Given the description of an element on the screen output the (x, y) to click on. 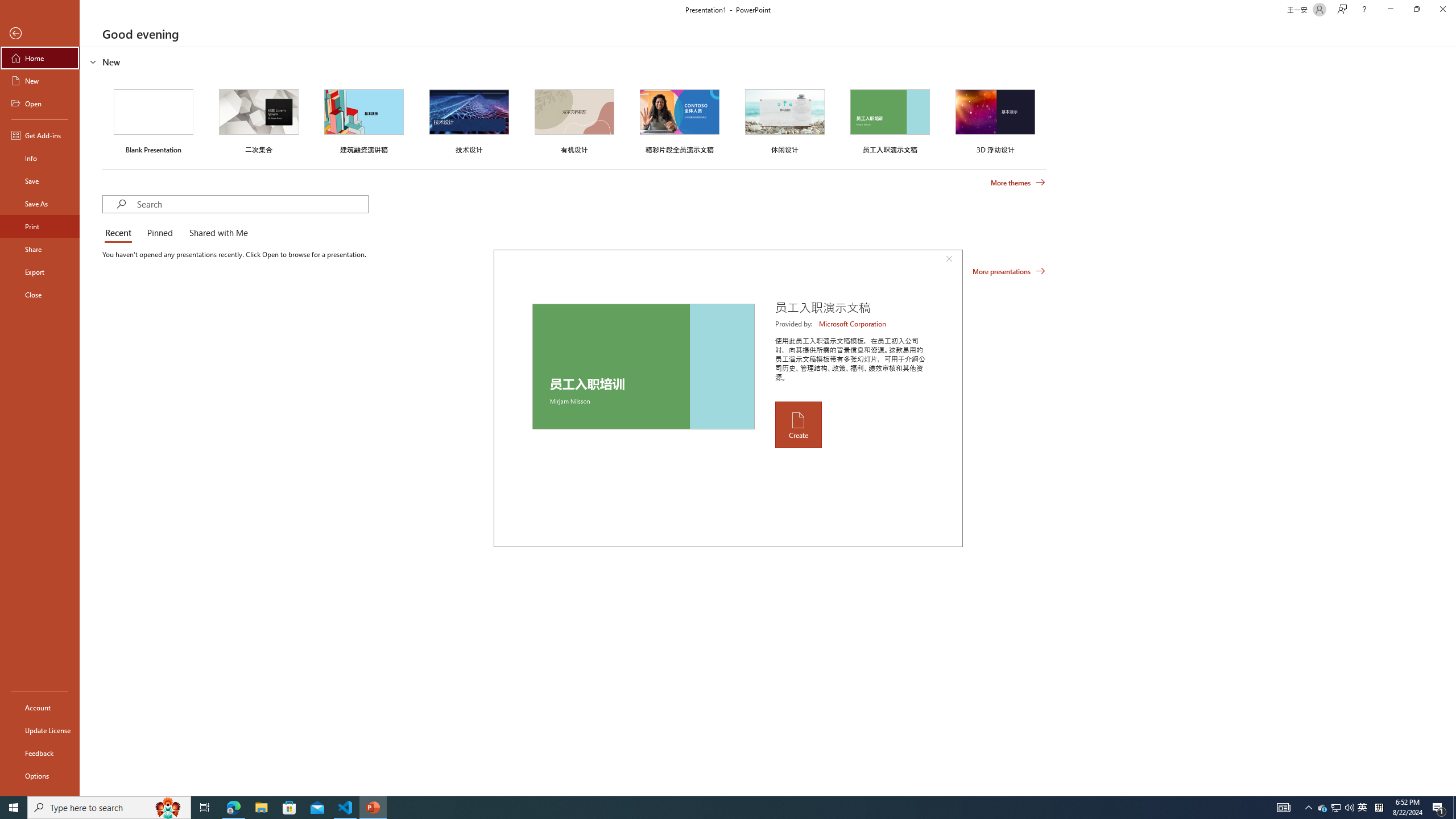
Home (40, 57)
Update License (40, 730)
System (6, 6)
Get Add-ins (40, 134)
Preview (643, 366)
Export (40, 271)
Feedback (40, 753)
New (40, 80)
Minimize (1390, 9)
Search (252, 203)
More presentations (1008, 270)
Close (40, 294)
